Given the description of an element on the screen output the (x, y) to click on. 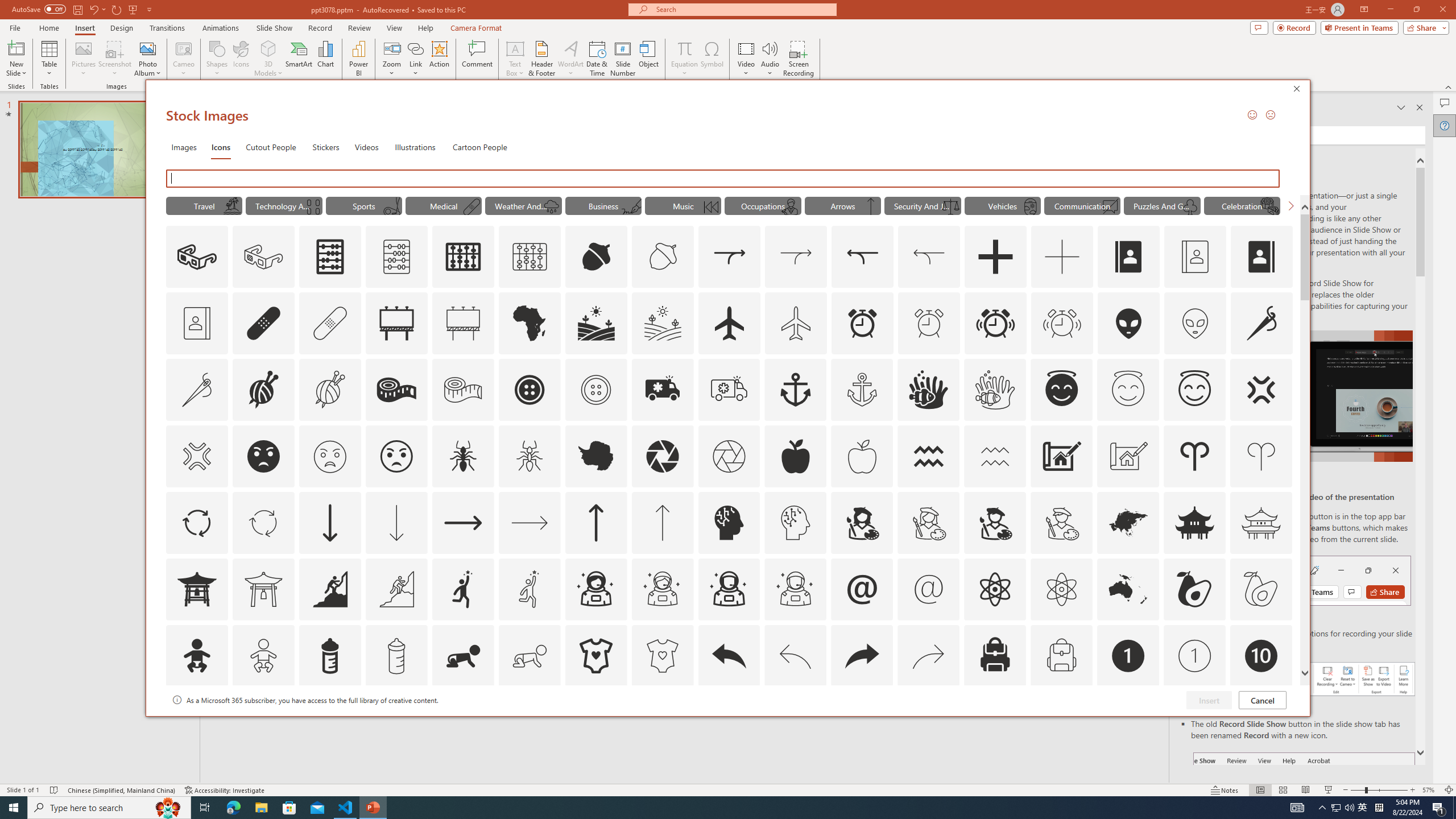
AutomationID: Icons_ArtistMale_M (1061, 522)
AutomationID: Icons_Ant (462, 455)
Header & Footer... (541, 58)
"Sports" Icons. (363, 205)
AutomationID: Icons_TropicalScene_M (231, 206)
